Given the description of an element on the screen output the (x, y) to click on. 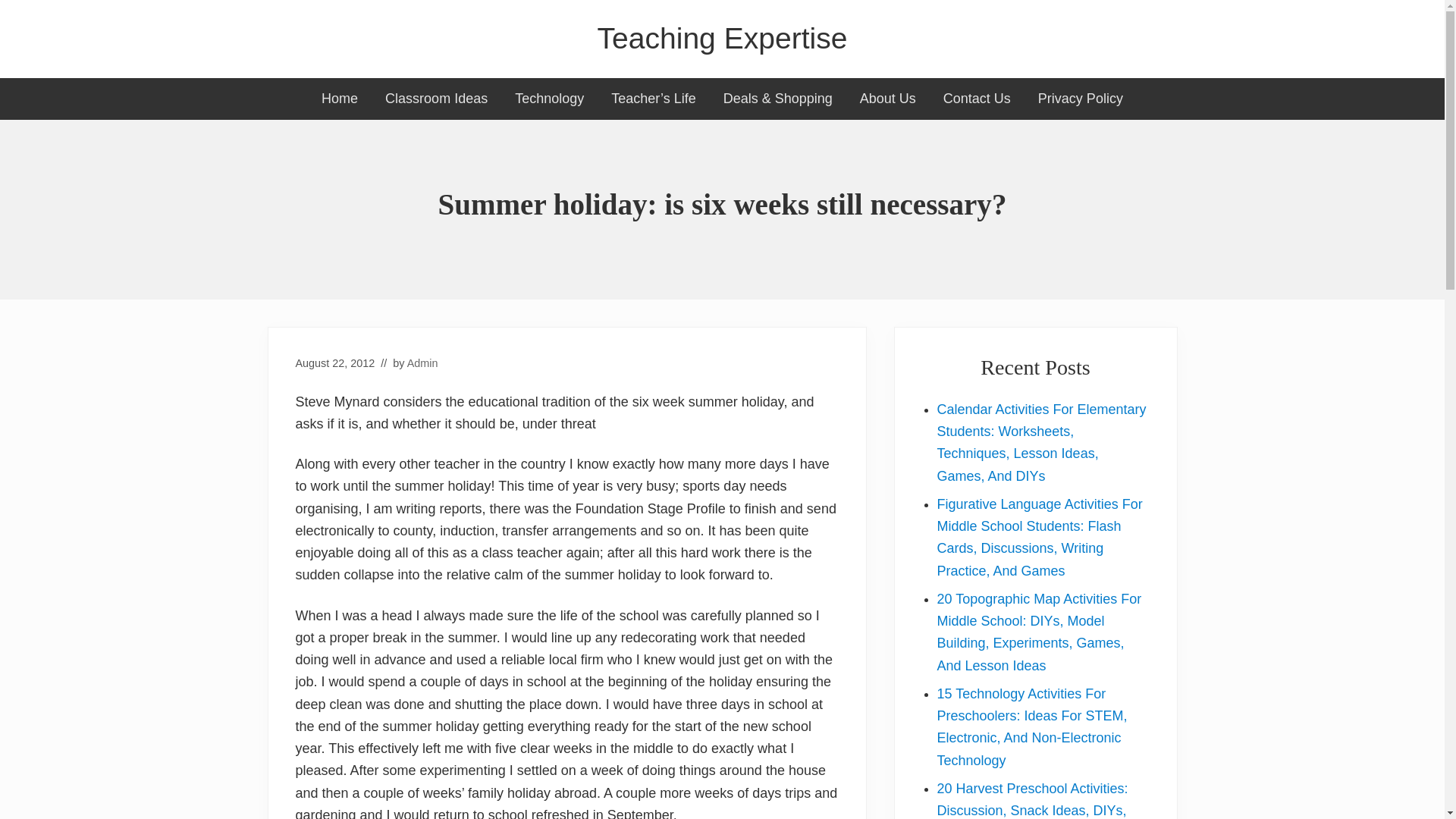
Admin (422, 363)
Technology (548, 98)
Home (339, 98)
About Us (887, 98)
Teaching Expertise (721, 38)
